Given the description of an element on the screen output the (x, y) to click on. 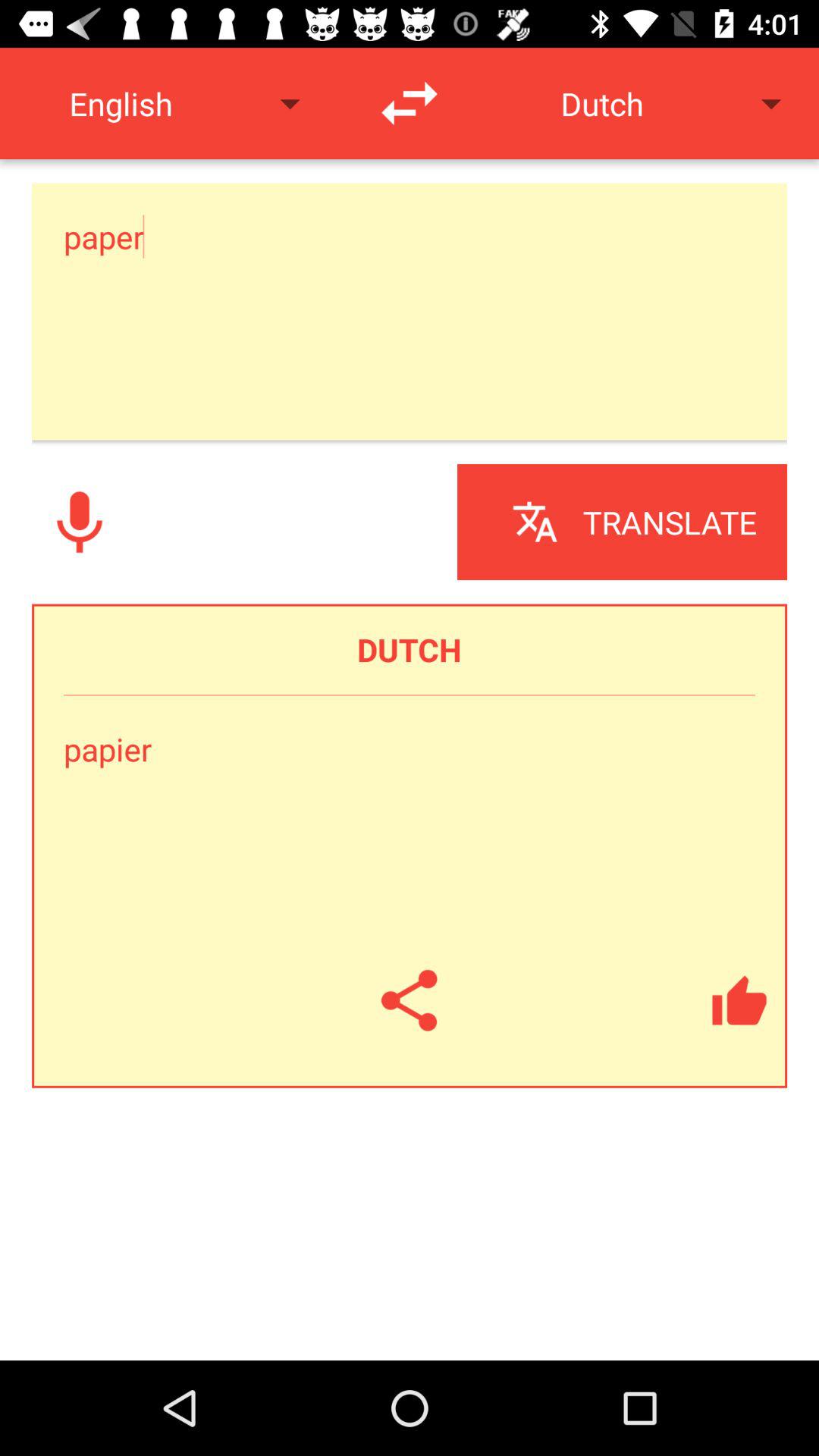
copy hyperlink (409, 1000)
